Given the description of an element on the screen output the (x, y) to click on. 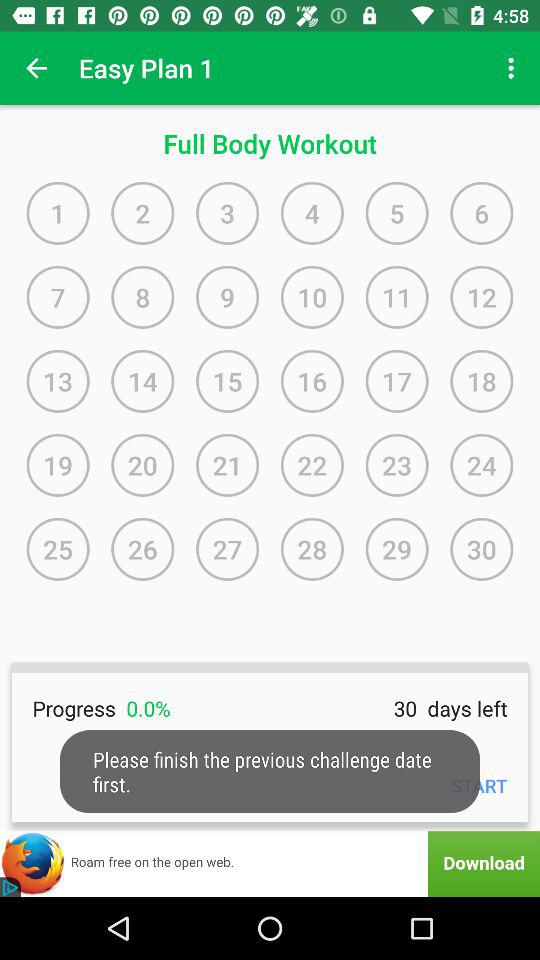
advertising bar (270, 864)
